Given the description of an element on the screen output the (x, y) to click on. 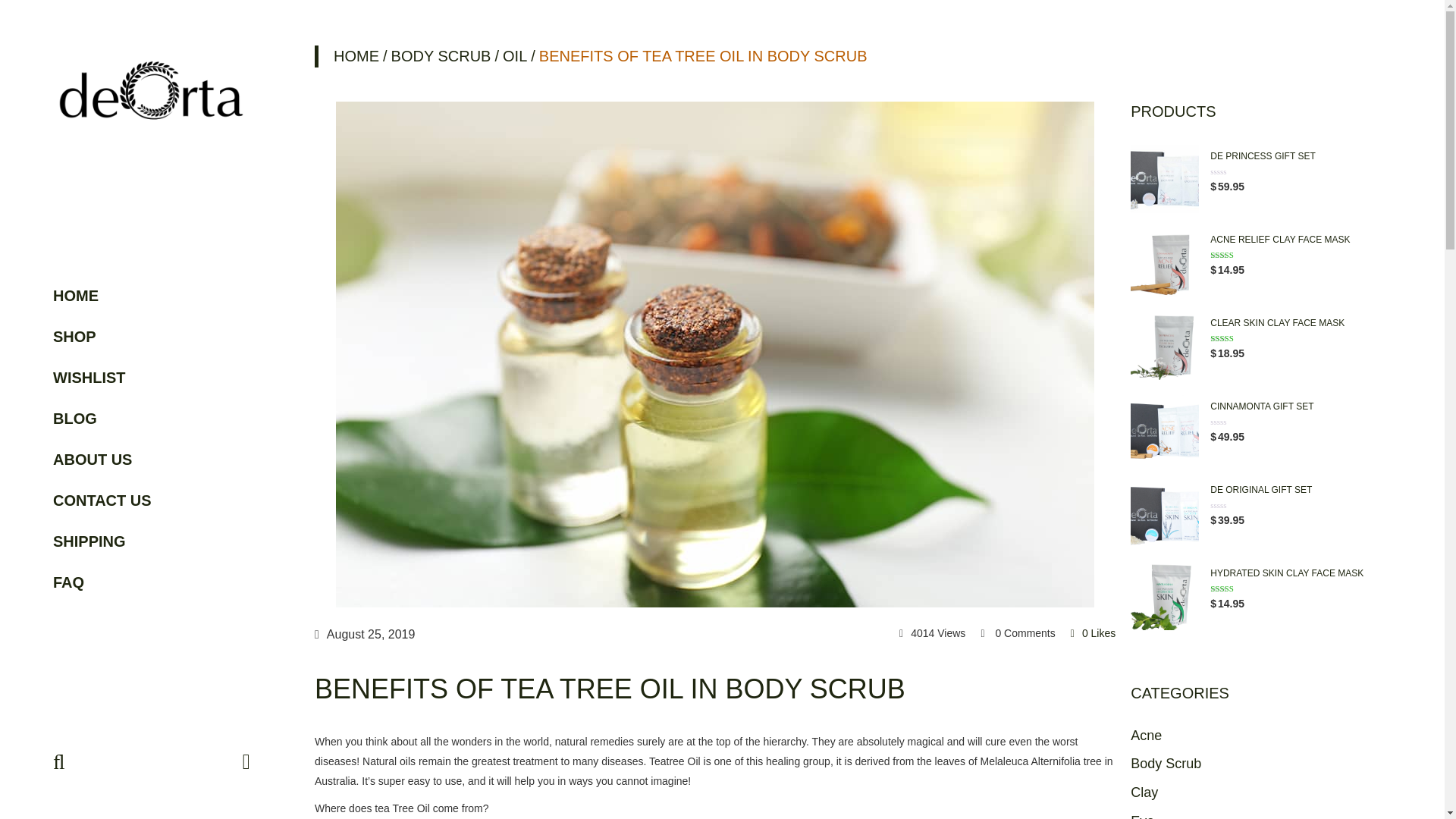
CONTACT US (151, 499)
HOME (151, 294)
HOME (346, 56)
SHOP (151, 335)
WISHLIST (151, 376)
SHIPPING (151, 540)
